Given the description of an element on the screen output the (x, y) to click on. 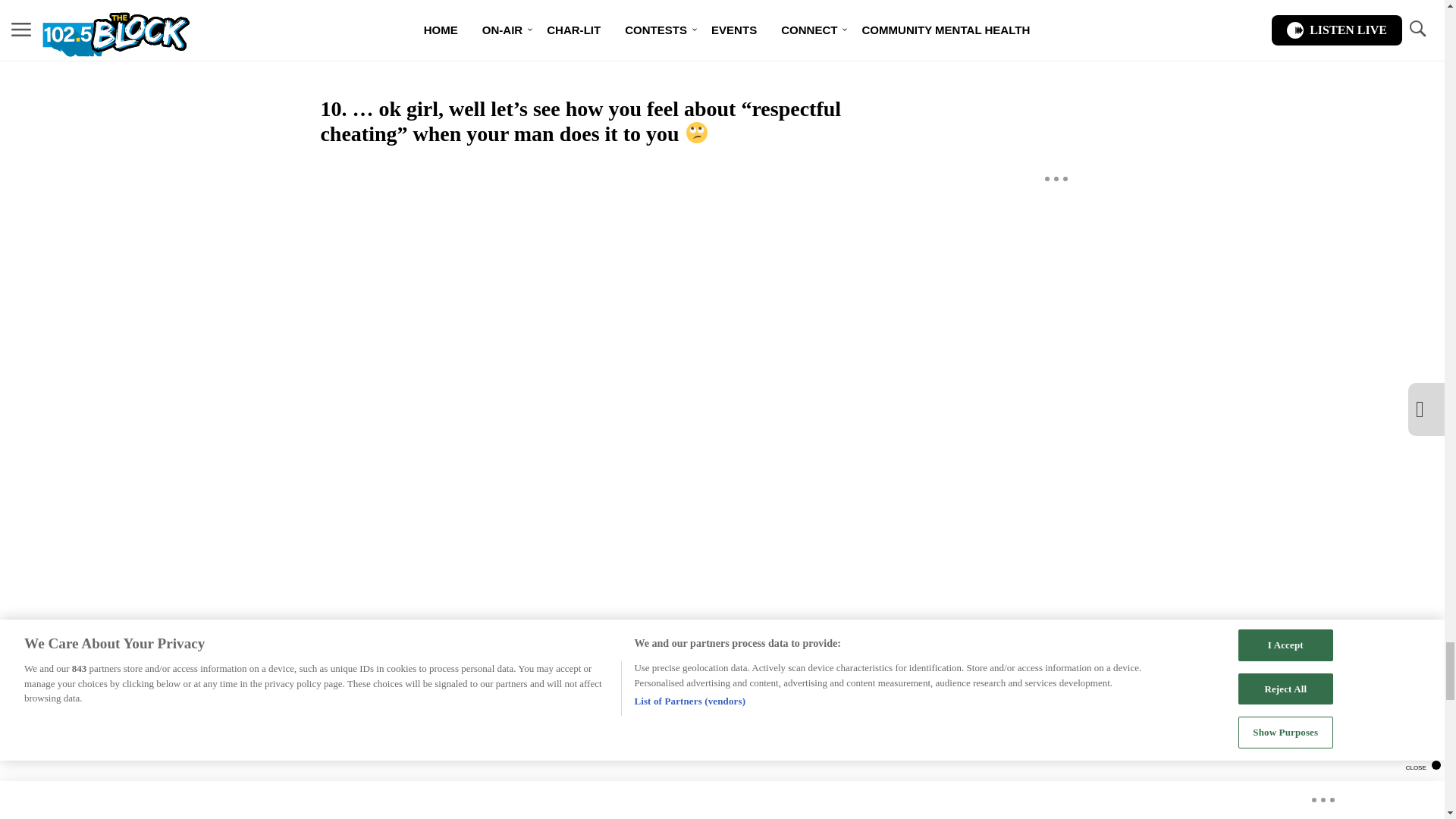
Vuukle Sharebar Widget (585, 675)
